Given the description of an element on the screen output the (x, y) to click on. 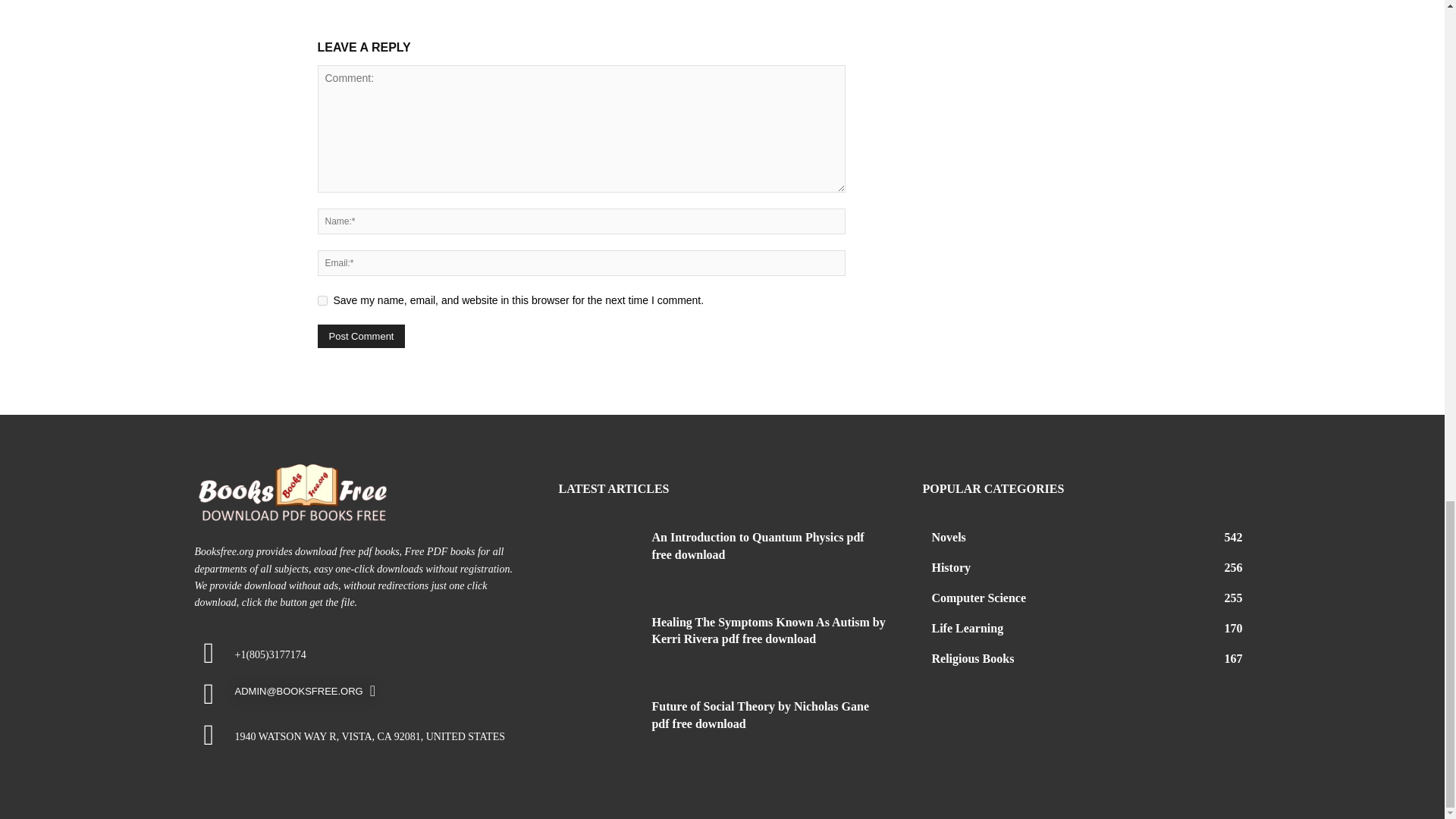
yes (321, 300)
Post Comment (360, 336)
